Given the description of an element on the screen output the (x, y) to click on. 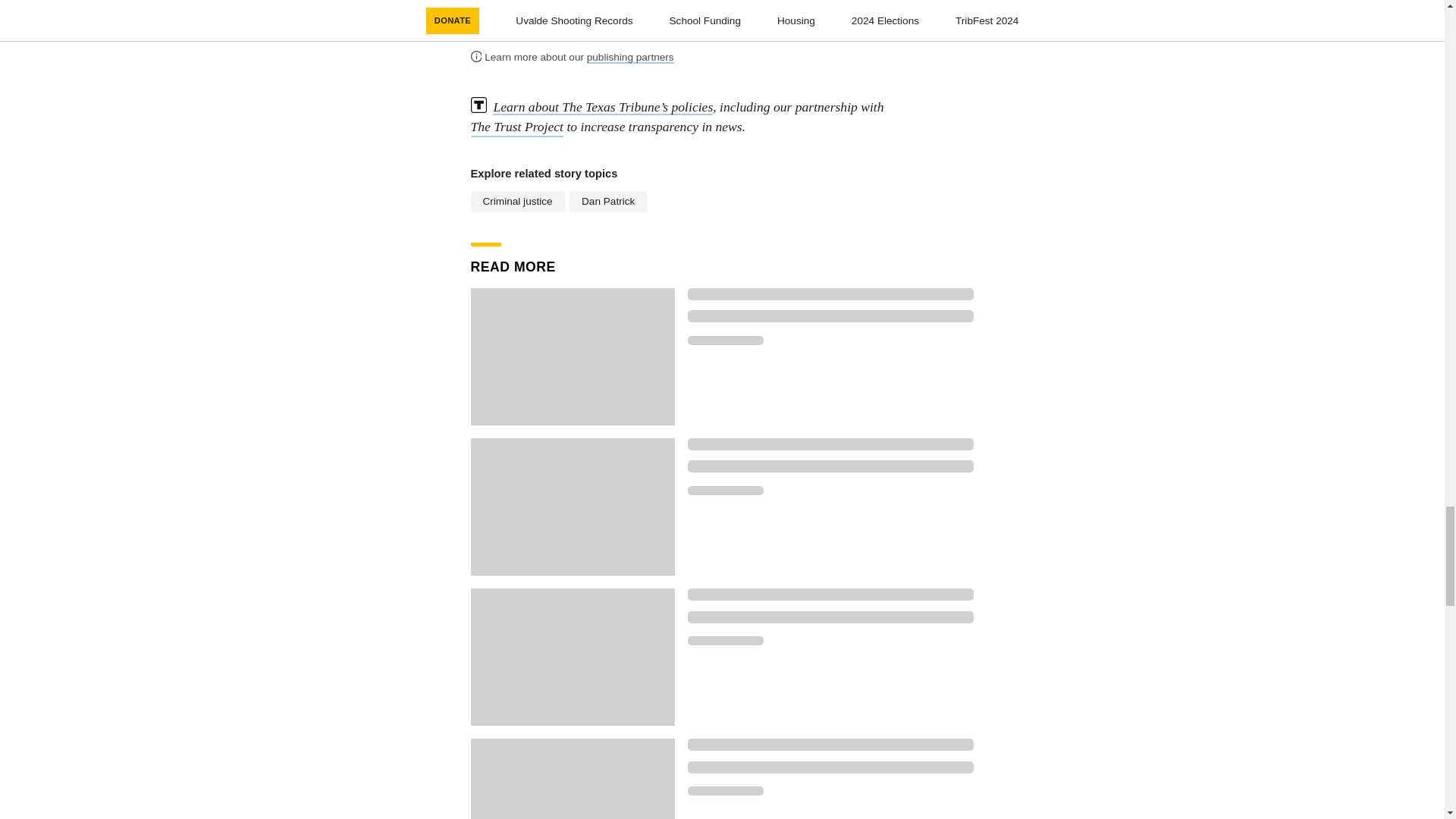
Loading indicator (830, 294)
Loading indicator (724, 339)
Loading indicator (724, 640)
Loading indicator (830, 744)
Loading indicator (830, 316)
Loading indicator (830, 444)
Loading indicator (830, 466)
Loading indicator (724, 790)
Loading indicator (830, 767)
Loading indicator (724, 490)
